Given the description of an element on the screen output the (x, y) to click on. 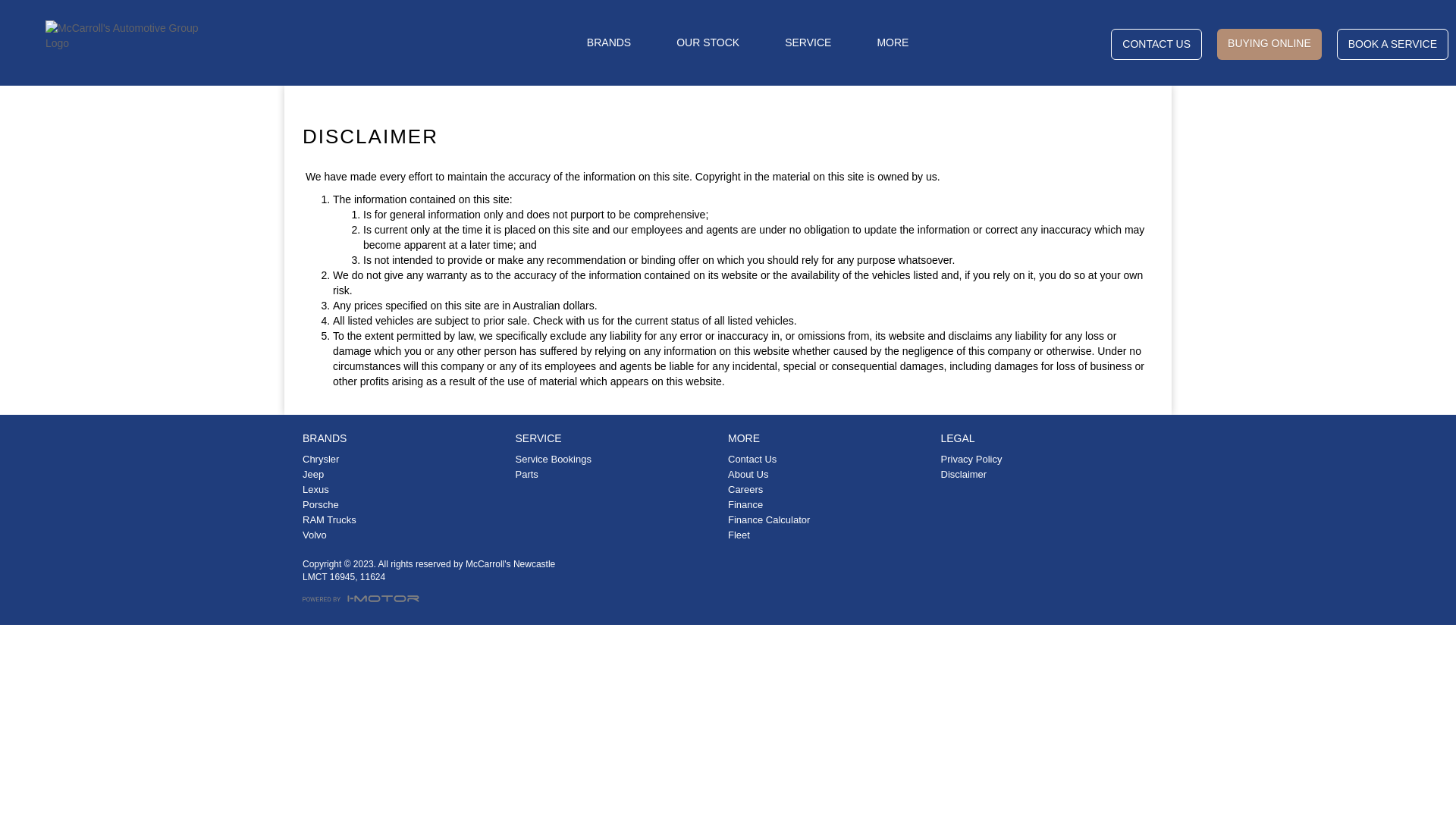
Jeep Element type: text (405, 474)
Chrysler Element type: text (405, 459)
Careers Element type: text (831, 489)
About Us Element type: text (831, 474)
Parts Element type: text (618, 474)
BUYING ONLINE Element type: text (1269, 43)
MORE Element type: text (892, 42)
CONTACT US Element type: text (1155, 43)
BOOK A SERVICE Element type: text (1392, 43)
OUR STOCK Element type: text (707, 42)
Contact Us Element type: text (831, 459)
BRANDS Element type: text (608, 42)
Privacy Policy Element type: text (1043, 459)
RAM Trucks Element type: text (405, 519)
Disclaimer Element type: text (1043, 474)
Finance Calculator Element type: text (831, 519)
SERVICE Element type: text (807, 42)
Service Bookings Element type: text (618, 459)
Lexus Element type: text (405, 489)
Porsche Element type: text (405, 504)
Volvo Element type: text (405, 534)
Finance Element type: text (831, 504)
Fleet Element type: text (831, 534)
